Given the description of an element on the screen output the (x, y) to click on. 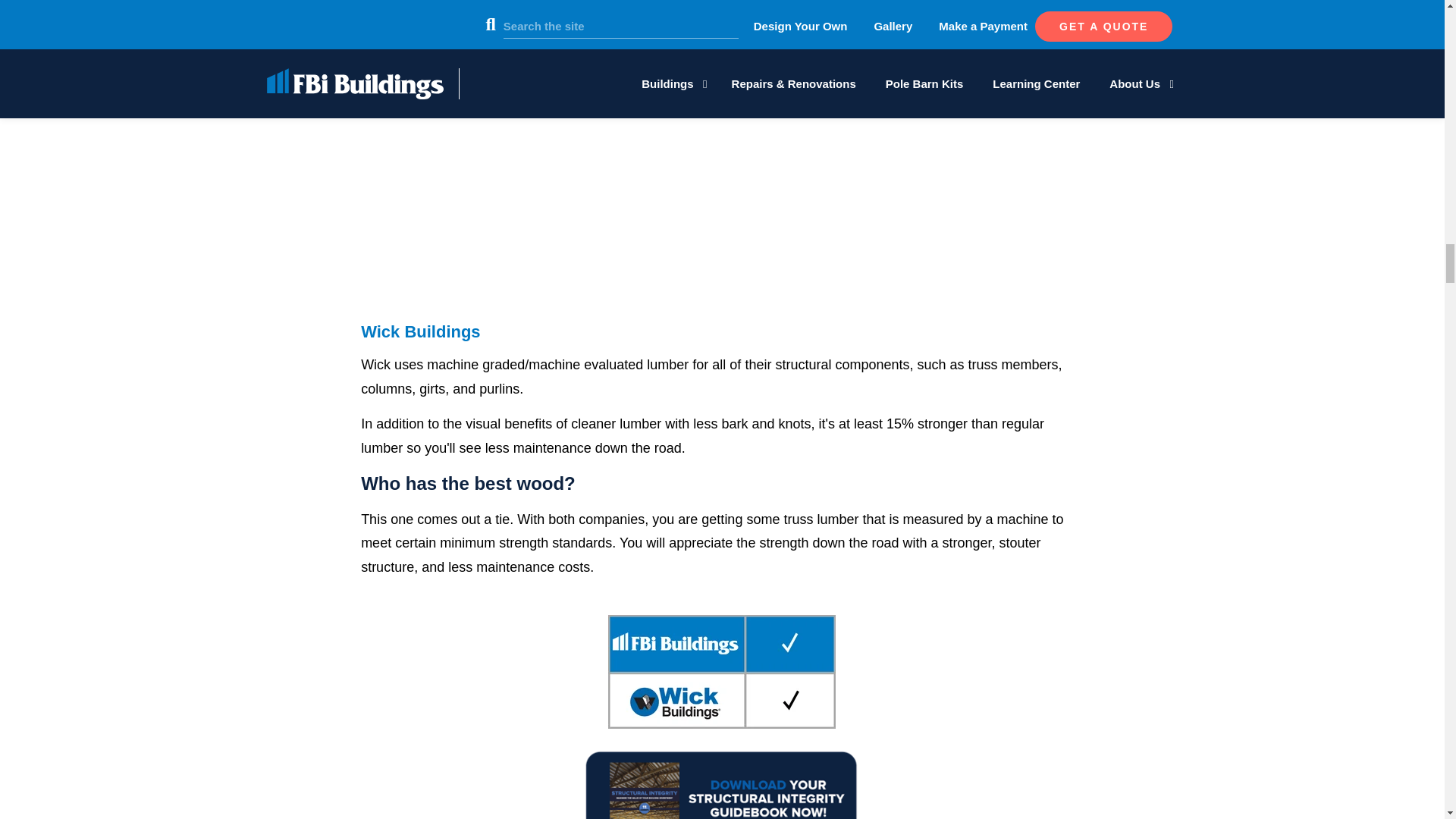
What is MSR Lumber? (722, 173)
